Given the description of an element on the screen output the (x, y) to click on. 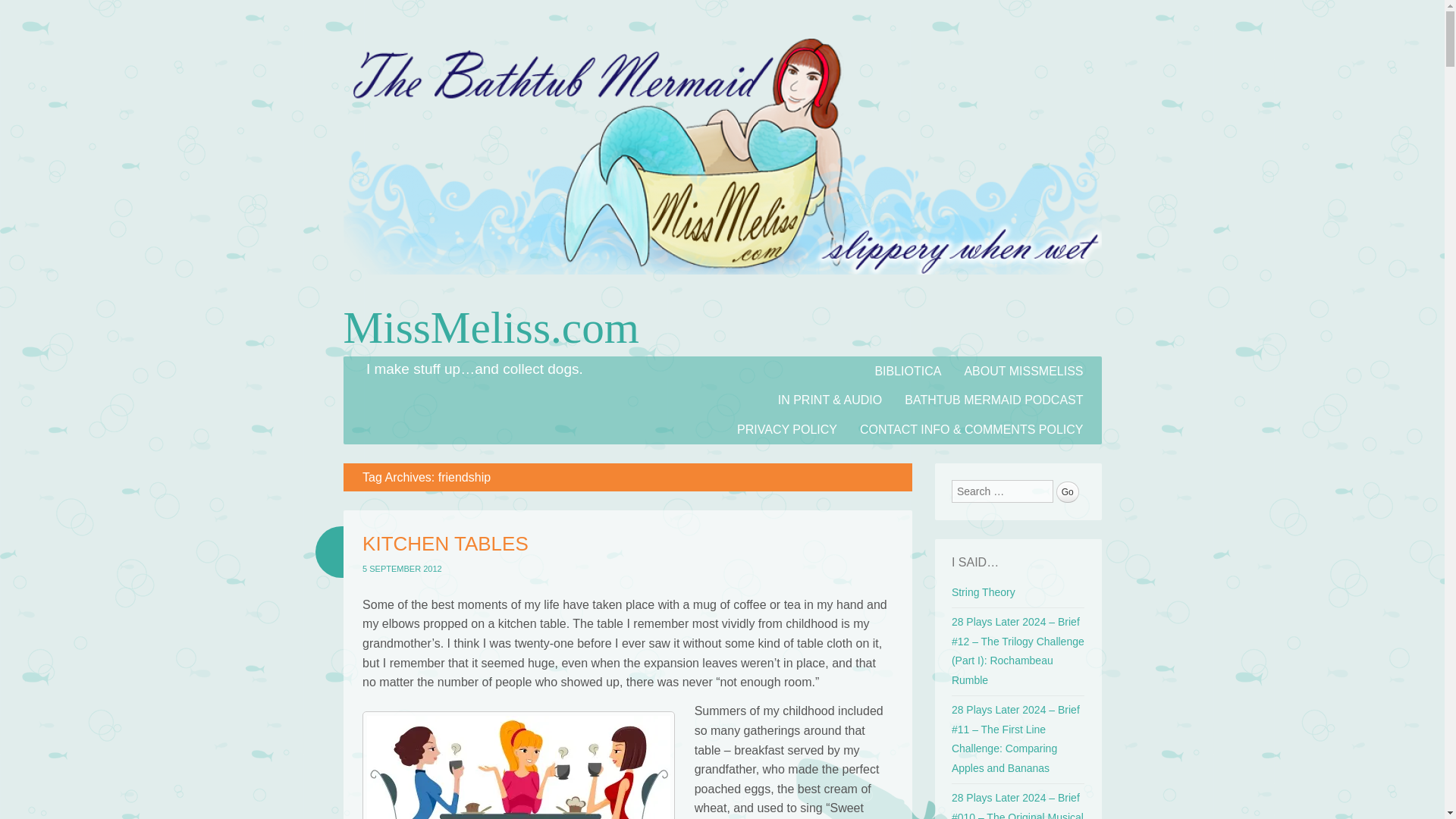
KITCHEN TABLES (445, 543)
MissMeliss.com (490, 327)
22:59 (402, 568)
BIBLIOTICA (907, 370)
MissMeliss.com (721, 289)
ABOUT MISSMELISS (1023, 370)
Skip to content (382, 365)
BATHTUB MERMAID PODCAST (993, 399)
Permalink to Kitchen Tables (445, 543)
Go (1067, 491)
MissMeliss.com (490, 327)
DrinkingCoffee400 from iStockPhoto.com (518, 765)
5 SEPTEMBER 2012 (402, 568)
Go (1067, 491)
String Theory (983, 592)
